Given the description of an element on the screen output the (x, y) to click on. 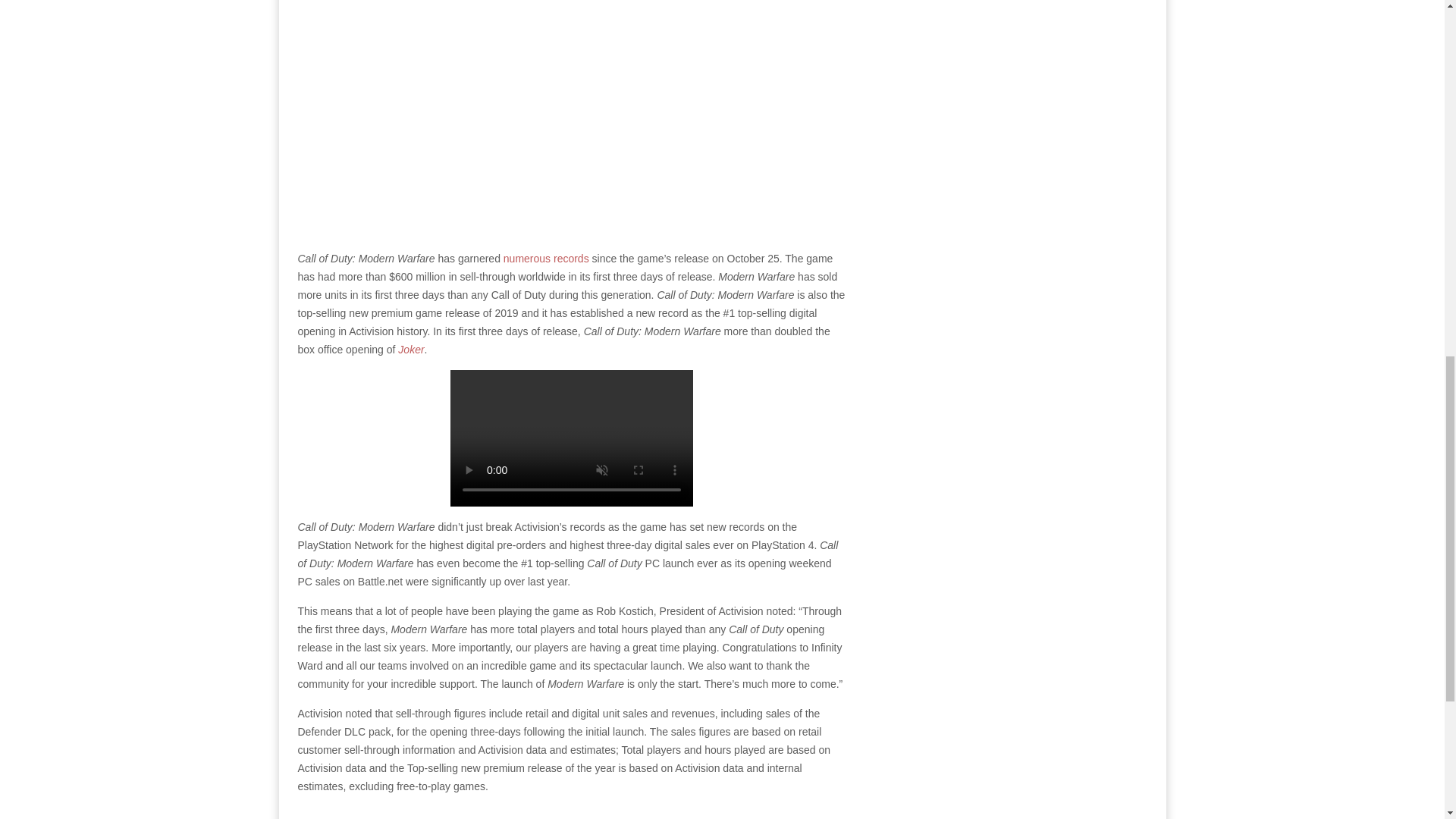
Joker (410, 349)
numerous records (546, 258)
